Given the description of an element on the screen output the (x, y) to click on. 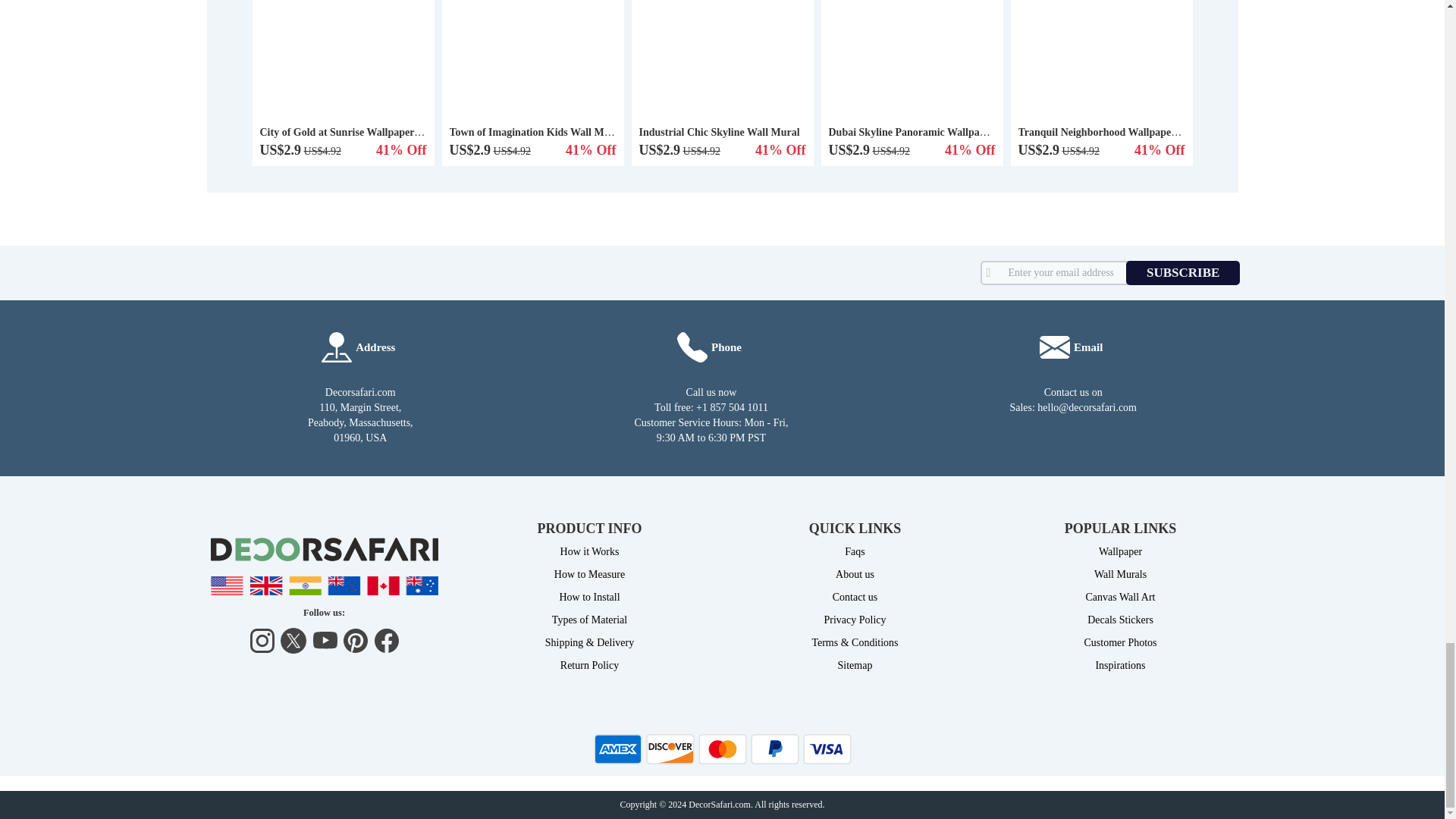
Mastercard (721, 748)
American Express (617, 748)
Visa (826, 748)
PayPal (775, 748)
Discover (670, 748)
